Given the description of an element on the screen output the (x, y) to click on. 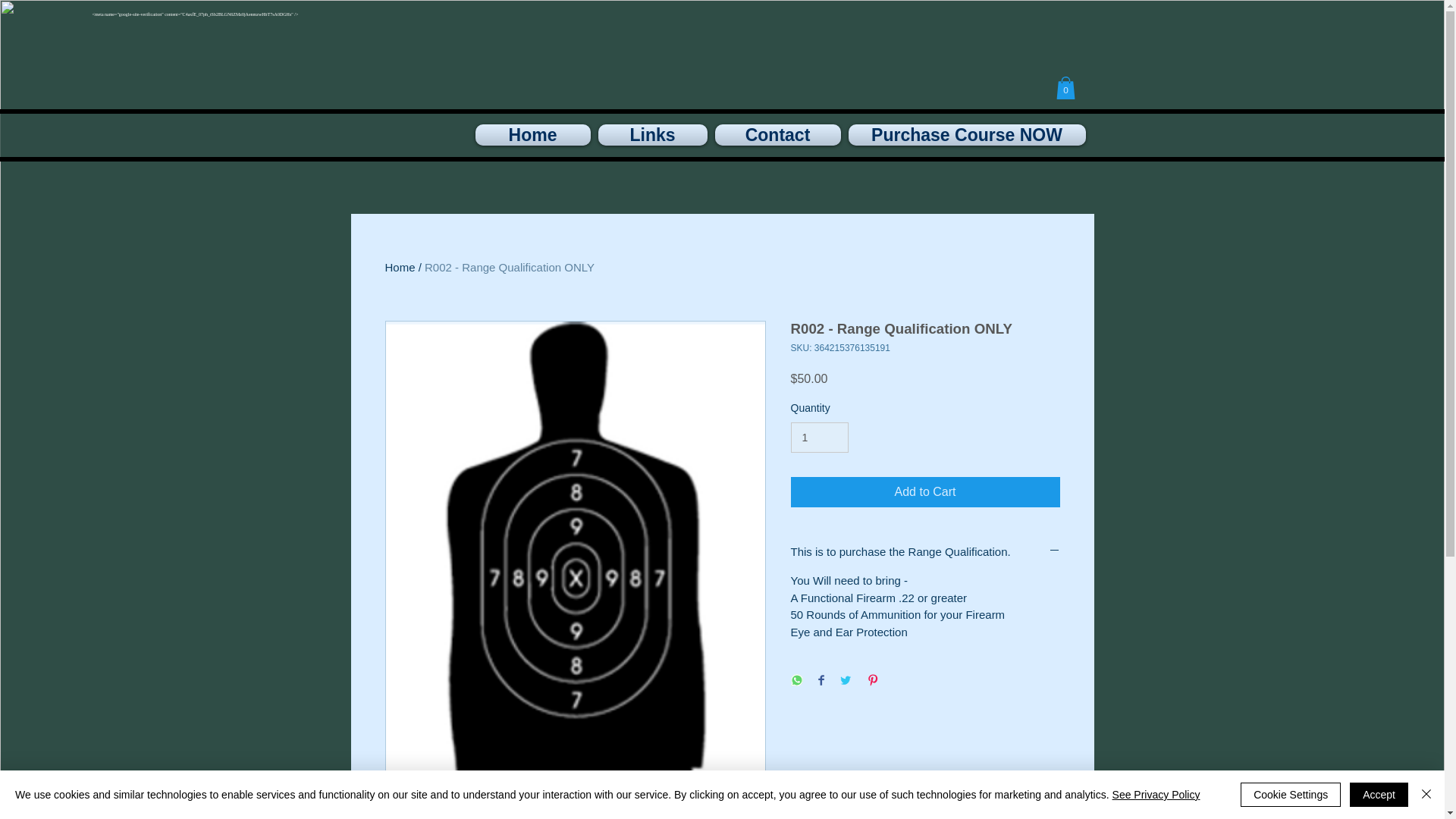
Links (652, 134)
Contact (777, 134)
Purchase Course NOW (965, 134)
Add to Cart (924, 491)
This is to purchase the Range Qualification. (924, 551)
0 (1064, 87)
Accept (1378, 794)
See Privacy Policy (1155, 794)
0 (1064, 87)
Home (399, 267)
Cookie Settings (1290, 794)
Embedded Content (670, 18)
Embedded Content (426, 37)
Home (534, 134)
R002 - Range Qualification ONLY (509, 267)
